Given the description of an element on the screen output the (x, y) to click on. 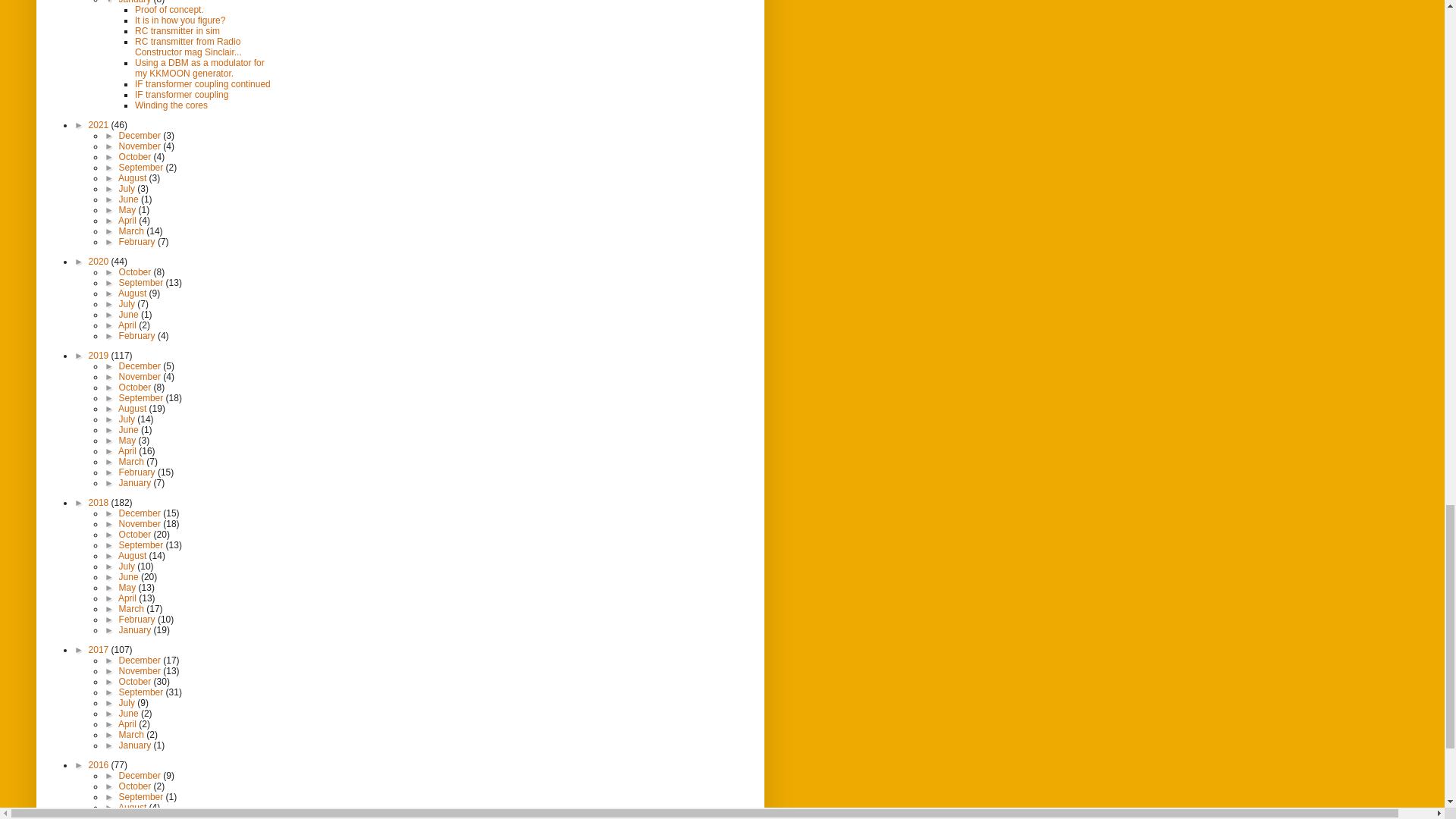
IF transformer coupling (181, 94)
Using a DBM as a modulator for my KKMOON generator. (199, 67)
Proof of concept. (169, 9)
It is in how you figure? (180, 20)
RC transmitter from Radio Constructor mag Sinclair... (188, 46)
RC transmitter in sim (177, 30)
IF transformer coupling continued (202, 83)
January (136, 2)
Winding the cores (171, 104)
